Given the description of an element on the screen output the (x, y) to click on. 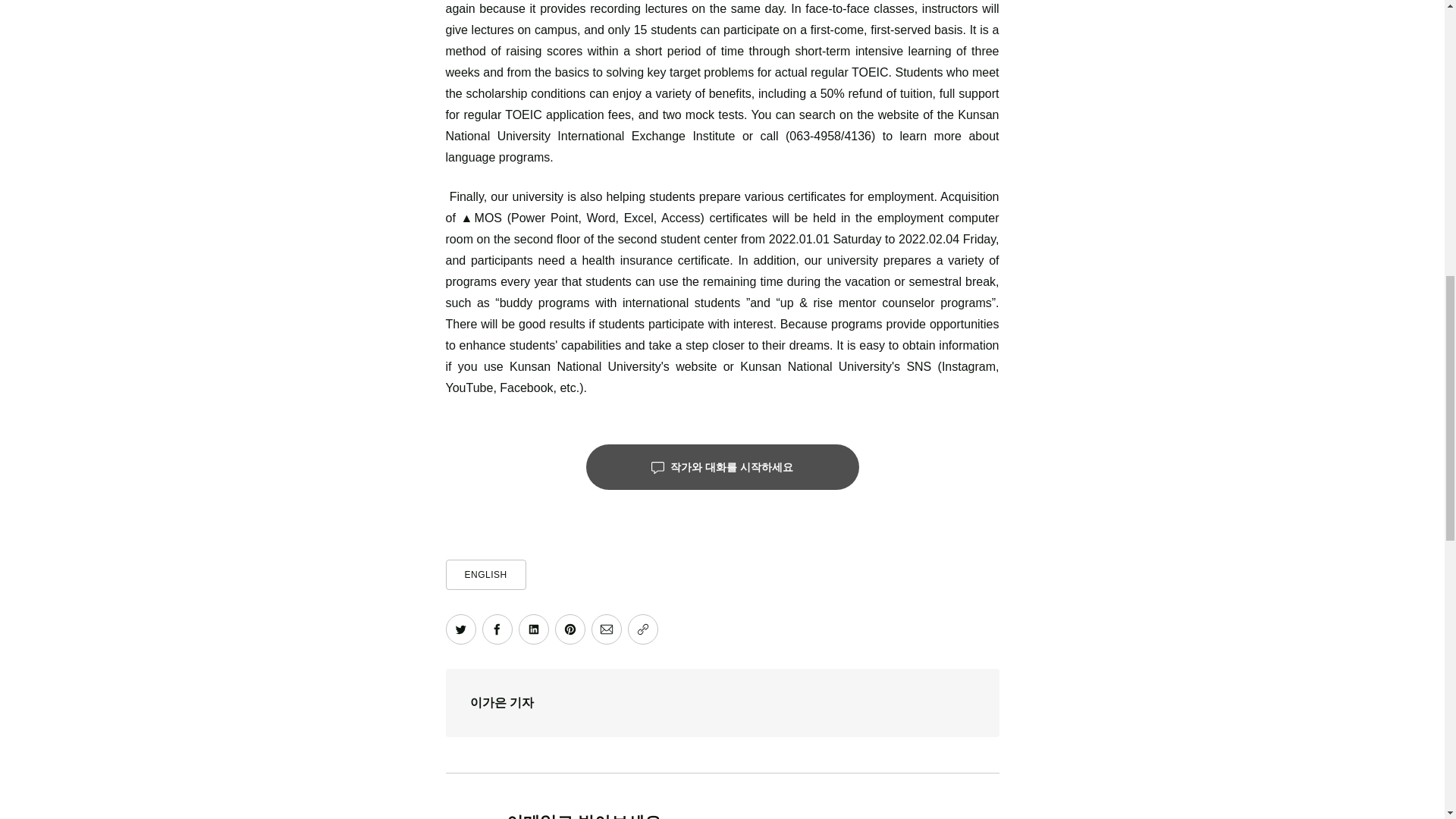
ENGLISH (485, 574)
